Given the description of an element on the screen output the (x, y) to click on. 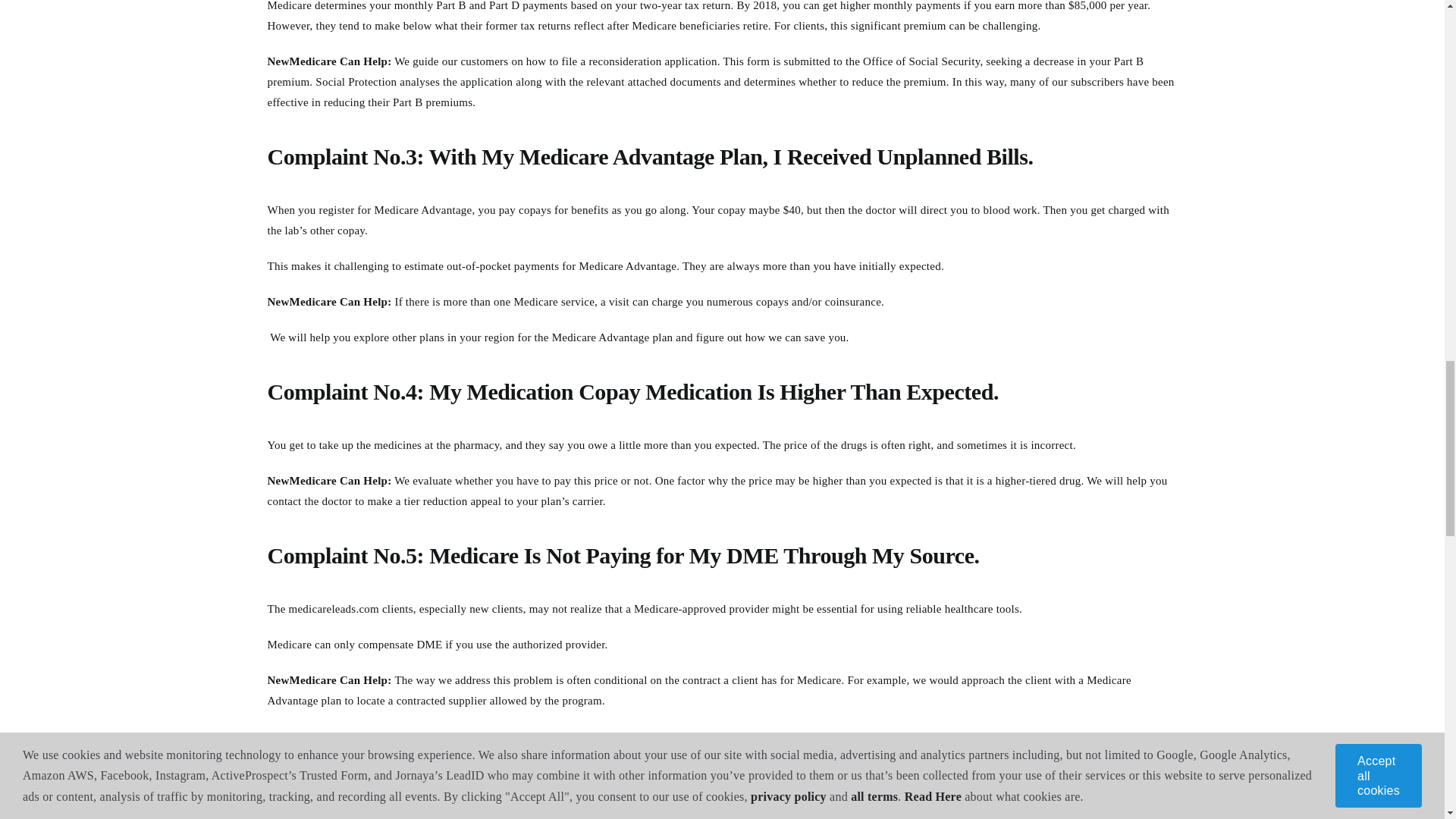
Medicare Advantage (422, 209)
NewMedicare (1072, 799)
